Given the description of an element on the screen output the (x, y) to click on. 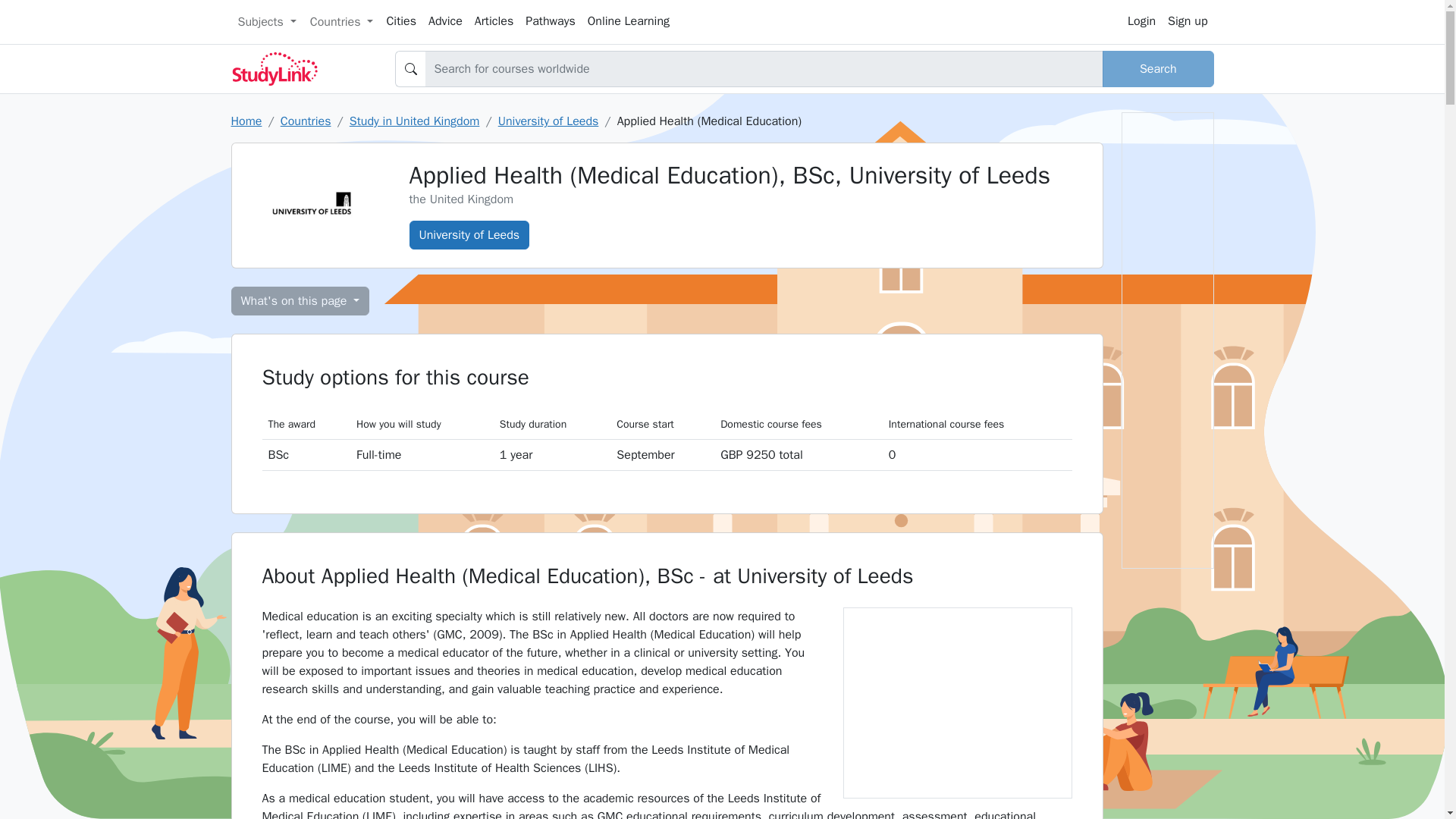
Countries (341, 21)
3rd party ad content (956, 702)
Subjects (266, 21)
